Given the description of an element on the screen output the (x, y) to click on. 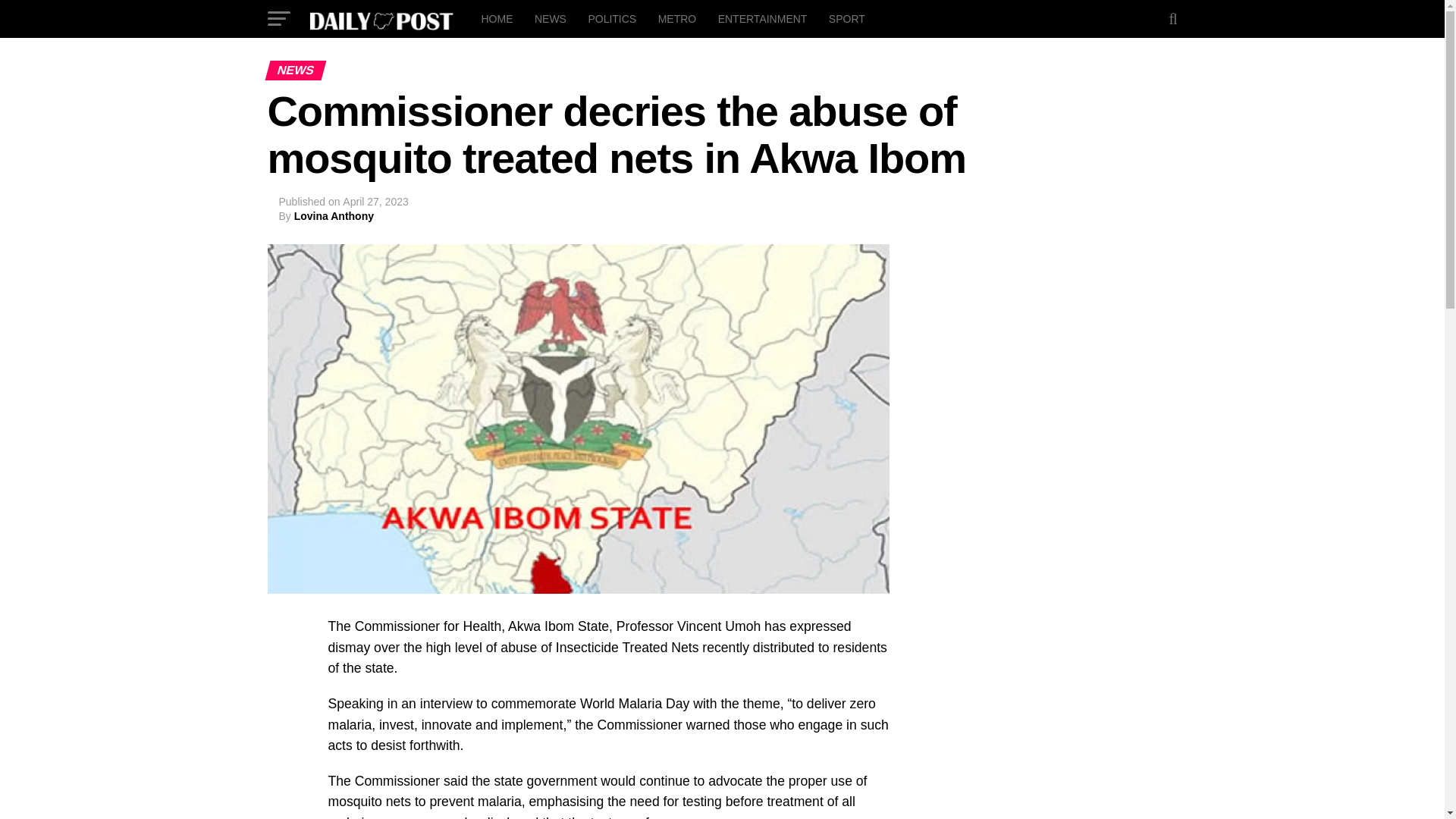
METRO (677, 18)
Posts by Lovina Anthony (334, 215)
ENTERTAINMENT (762, 18)
Lovina Anthony (334, 215)
NEWS (550, 18)
HOME (496, 18)
POLITICS (611, 18)
SPORT (847, 18)
